Given the description of an element on the screen output the (x, y) to click on. 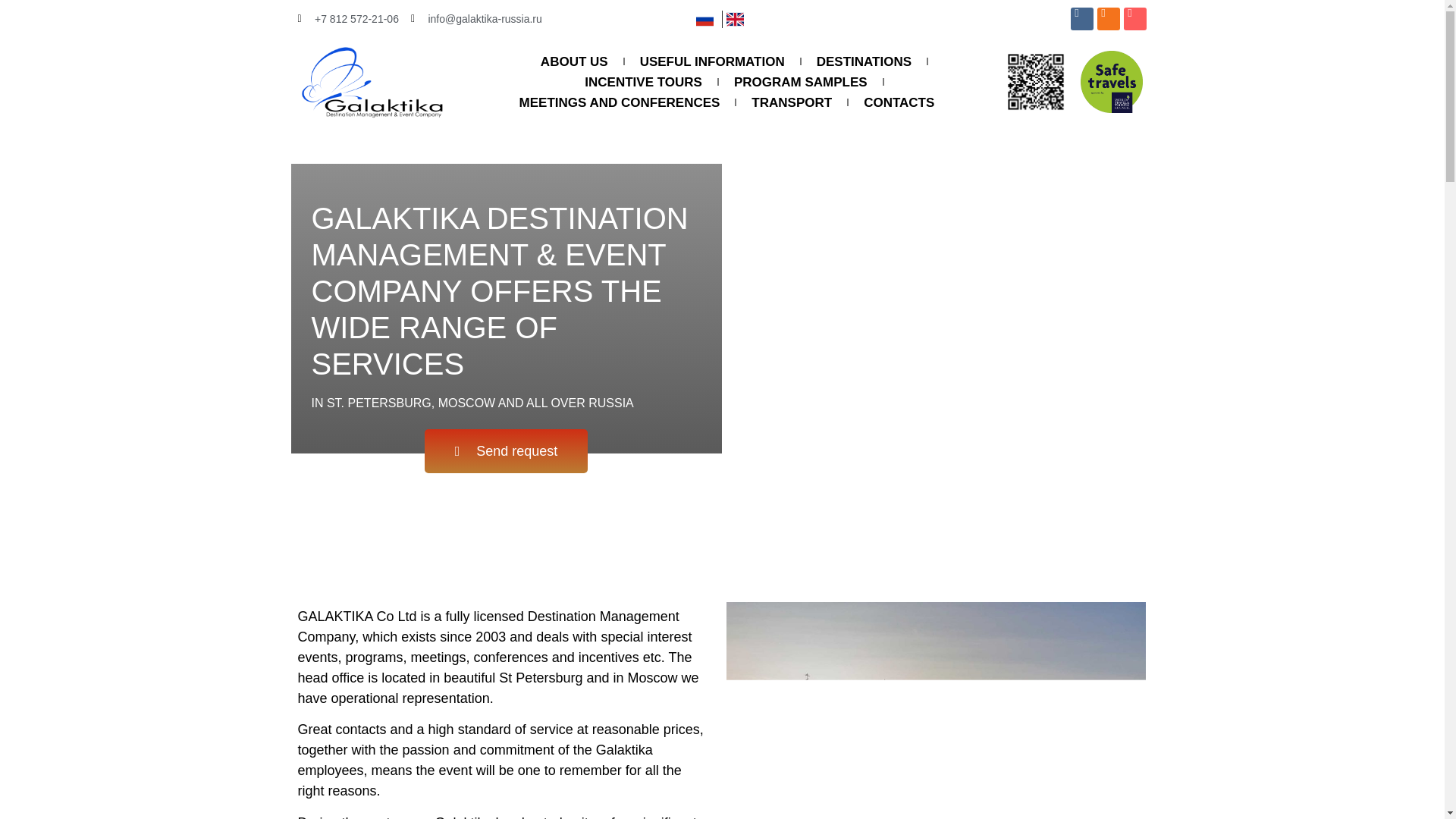
DESTINATIONS (864, 61)
MEETINGS AND CONFERENCES (619, 102)
ABOUT US (574, 61)
TRANSPORT (791, 102)
CONTACTS (898, 102)
USEFUL INFORMATION (711, 61)
PROGRAM SAMPLES (800, 82)
INCENTIVE TOURS (643, 82)
Send request (506, 451)
